Given the description of an element on the screen output the (x, y) to click on. 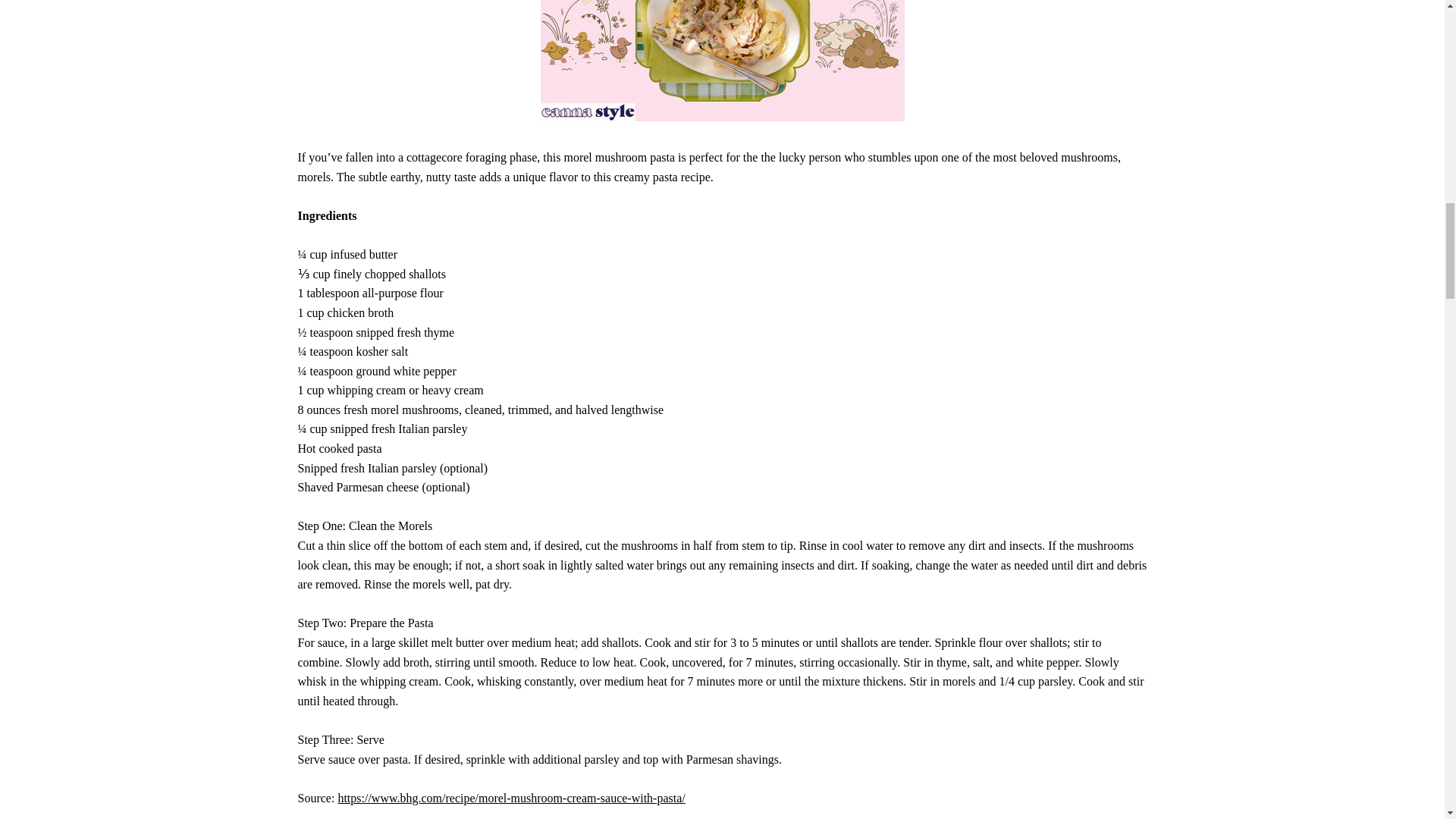
Morel Mushroom Pasta (510, 797)
